Given the description of an element on the screen output the (x, y) to click on. 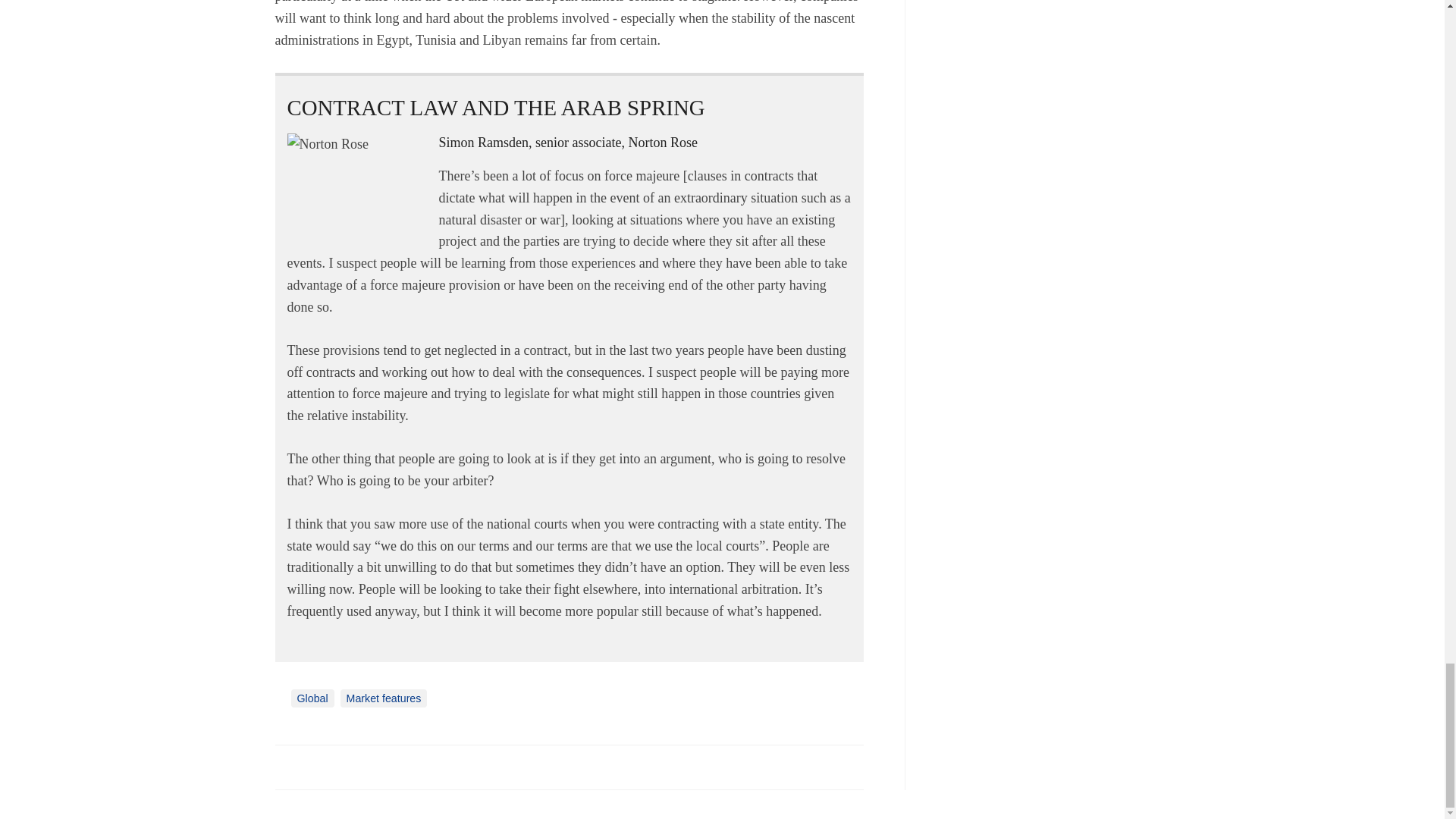
Share this on Linked in (352, 766)
Share this on Twitter (320, 766)
Share this on Facebook (288, 766)
Email this article (386, 766)
No comments (840, 775)
